Given the description of an element on the screen output the (x, y) to click on. 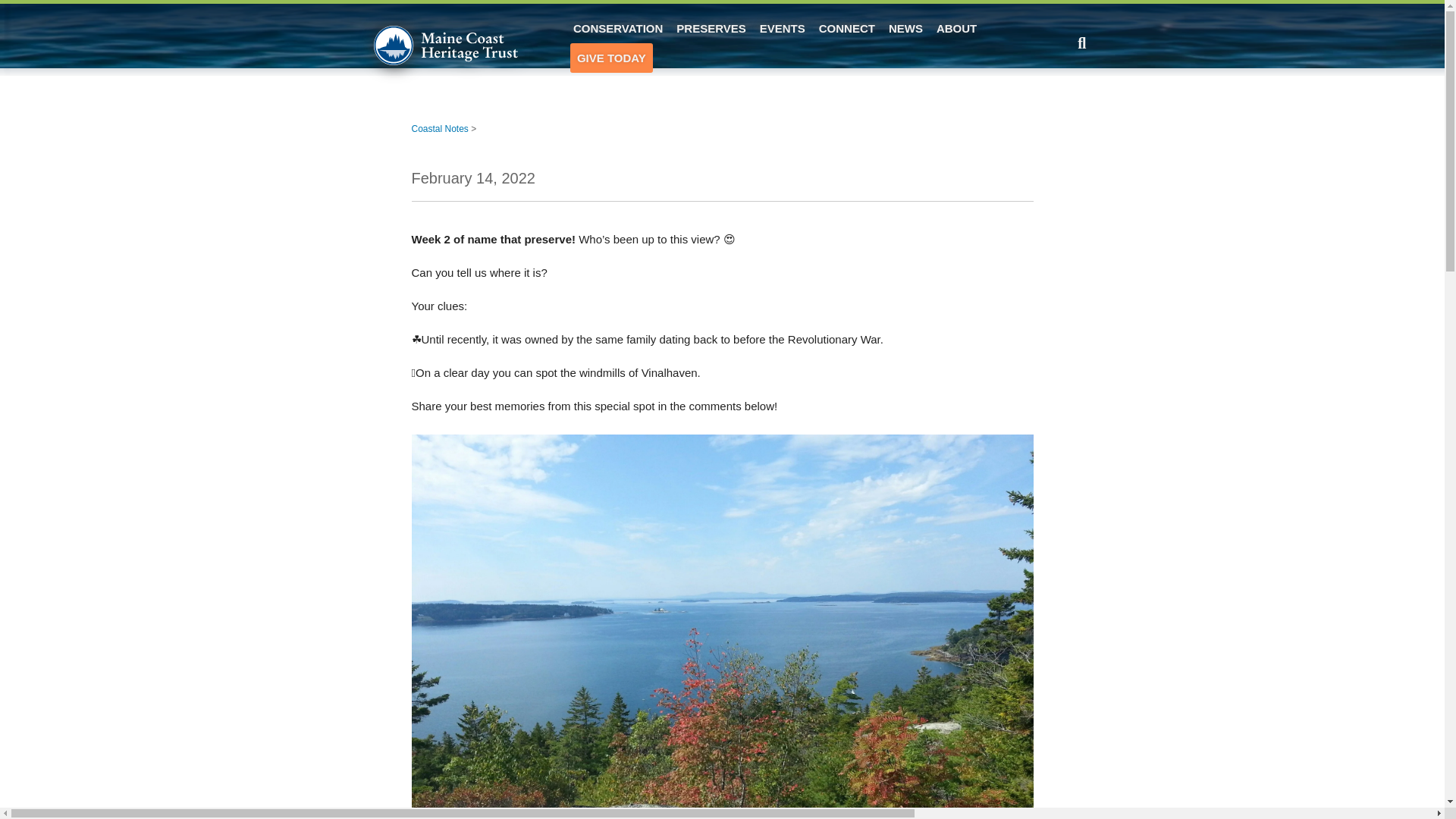
CONNECT (847, 28)
CONSERVATION (617, 28)
ABOUT (957, 28)
GIVE TODAY (611, 57)
NEWS (906, 28)
EVENTS (782, 28)
Coastal Notes (438, 128)
PRESERVES (710, 28)
